Given the description of an element on the screen output the (x, y) to click on. 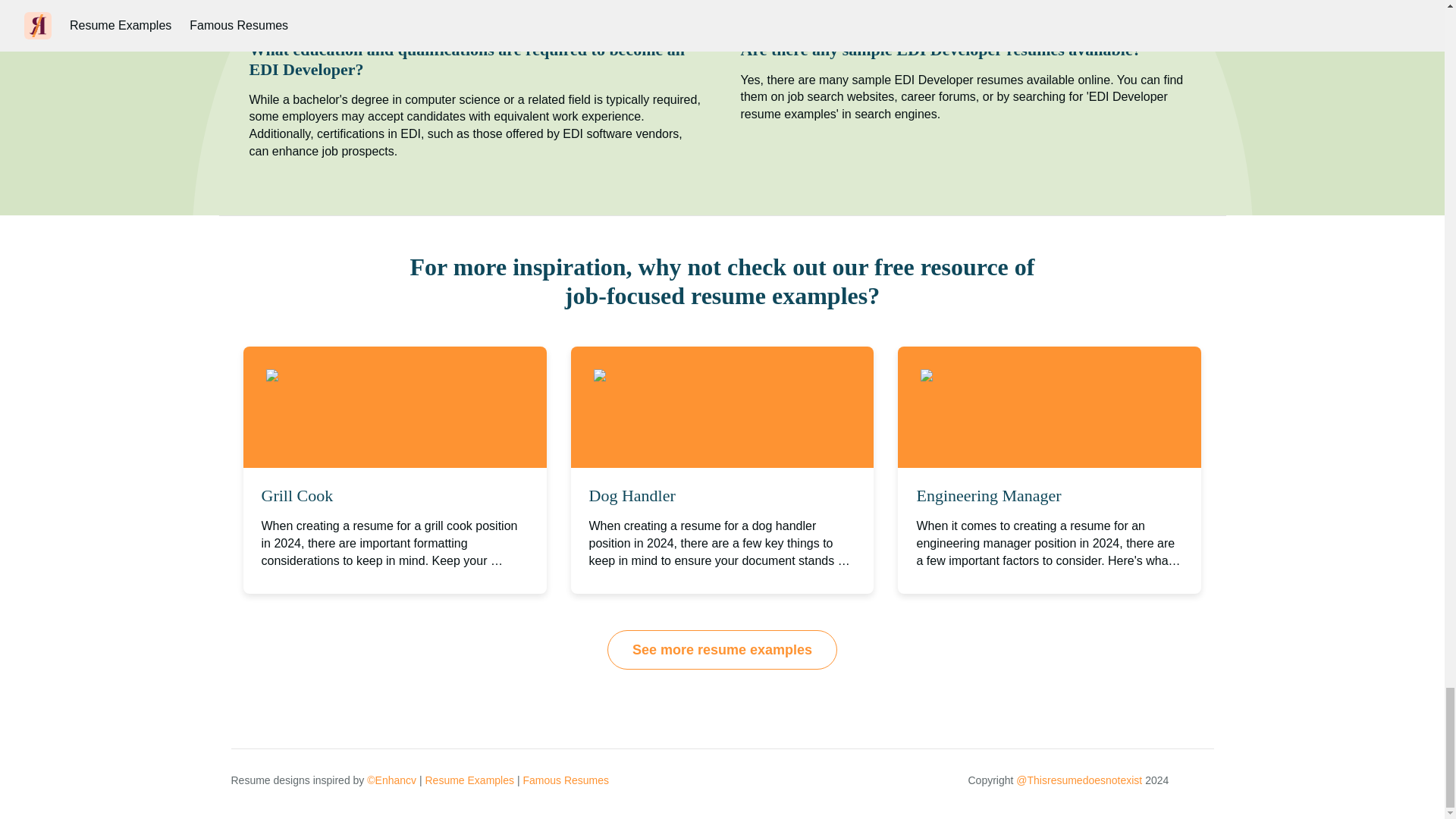
Famous Resumes (565, 779)
Engineering Manager's resume (1017, 376)
See more resume examples (722, 649)
Resume Examples (469, 779)
Dog Handler's resume (668, 376)
Grill Cook's resume (336, 376)
